Given the description of an element on the screen output the (x, y) to click on. 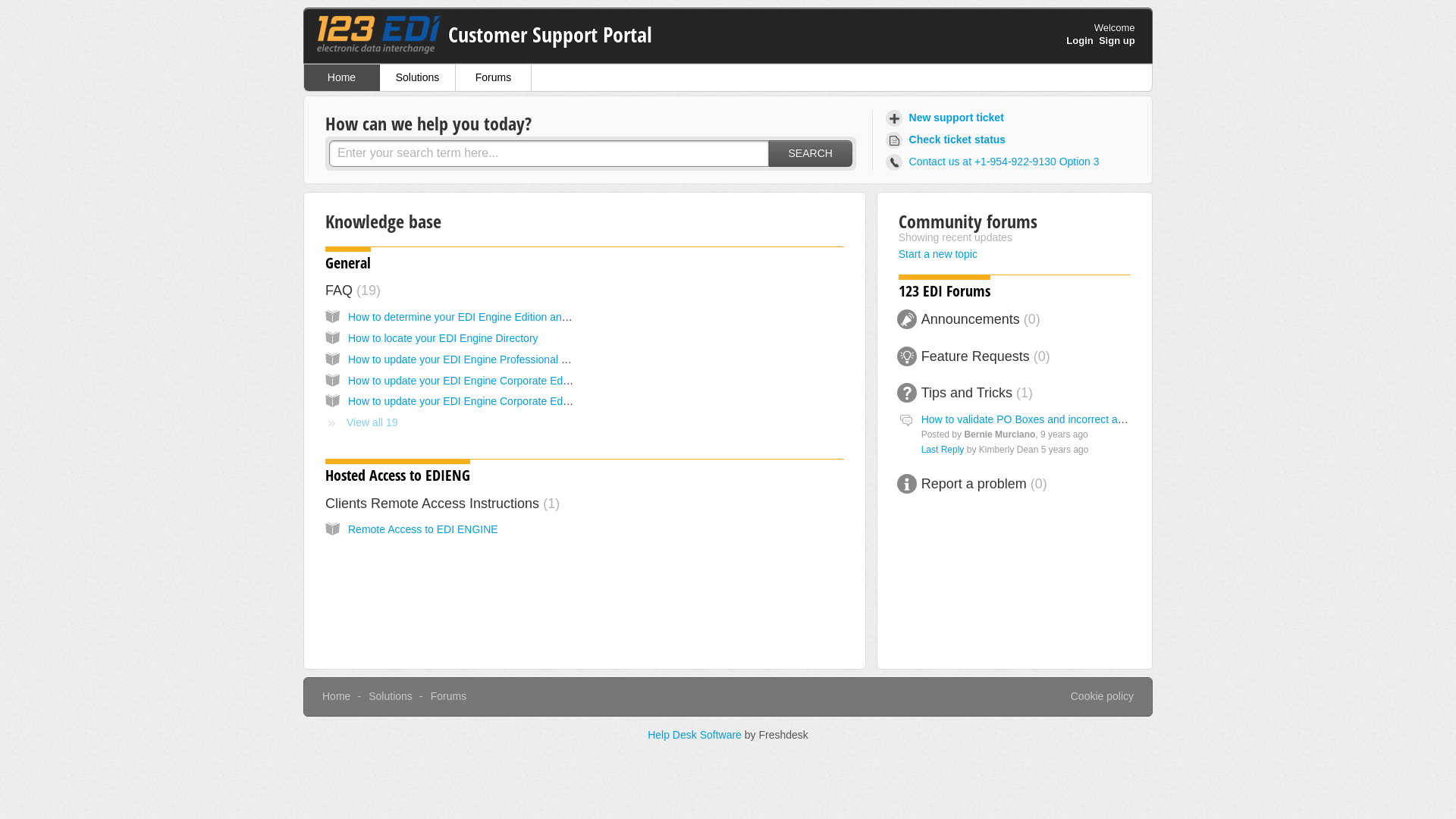
Sign up Element type: text (1116, 40)
Last Reply Element type: text (942, 449)
Feature Requests 0 Element type: text (985, 356)
How to determine your EDI Engine Edition and Build Element type: text (471, 316)
View all 19 Element type: text (361, 422)
How to update your EDI Engine Corporate Edition Element type: text (465, 380)
Home Element type: text (341, 77)
Clients Remote Access Instructions 1 Element type: text (442, 503)
Login Element type: text (1079, 40)
Remote Access to EDI ENGINE Element type: text (423, 529)
How to update your EDI Engine Professional Edition Element type: text (470, 359)
Announcements 0 Element type: text (980, 318)
Contact us at +1-954-922-9130 Option 3 Element type: text (994, 161)
Forums Element type: text (448, 696)
123 EDI Forums Element type: text (944, 290)
Cookie policy Element type: text (1101, 696)
Check ticket status Element type: text (948, 139)
How to locate your EDI Engine Directory Element type: text (443, 338)
Forums Element type: text (493, 77)
Start a new topic Element type: text (937, 253)
SEARCH Element type: text (810, 153)
Hosted Access to EDIENG Element type: text (397, 474)
FAQ 19 Element type: text (352, 290)
New support ticket Element type: text (947, 117)
Tips and Tricks 1 Element type: text (976, 392)
Report a problem 0 Element type: text (984, 483)
Help Desk Software Element type: text (695, 734)
How to update your EDI Engine Corporate Edition Element type: text (465, 401)
Solutions Element type: text (417, 77)
Home Element type: text (336, 696)
General Element type: text (347, 262)
Solutions Element type: text (390, 696)
